Given the description of an element on the screen output the (x, y) to click on. 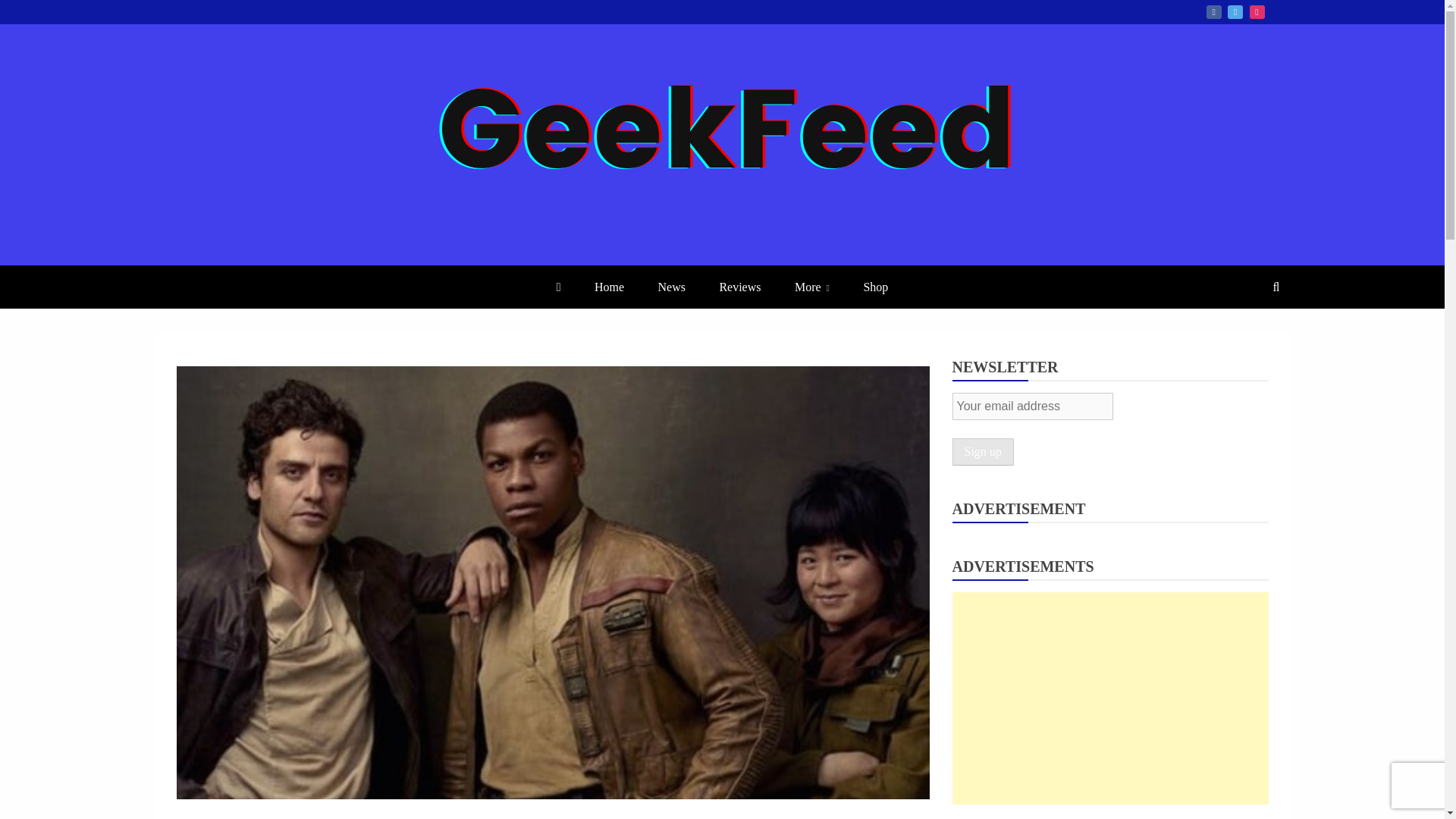
News (671, 286)
Instagram (1257, 11)
Twitter (1235, 11)
Shop (874, 286)
Search (31, 13)
More (811, 286)
Home (609, 286)
Reviews (739, 286)
Facebook (1214, 11)
